Given the description of an element on the screen output the (x, y) to click on. 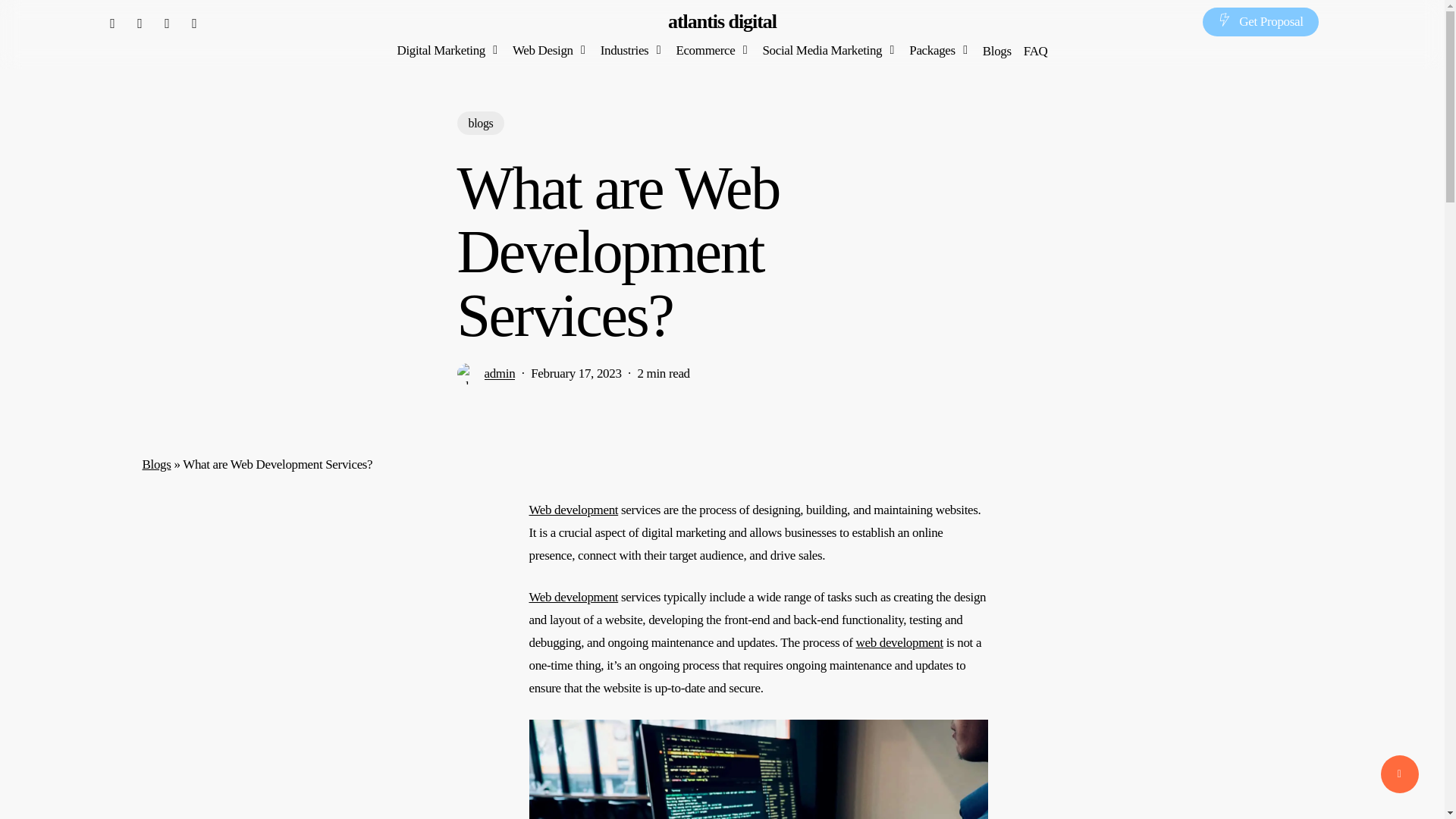
Web Design (550, 50)
Digital Marketing (448, 50)
Get Proposal (1260, 21)
linkedin (138, 21)
instagram (166, 21)
atlantis digital (722, 21)
whatsapp (194, 21)
facebook (112, 21)
Posts by admin (499, 373)
Industries (631, 50)
